Given the description of an element on the screen output the (x, y) to click on. 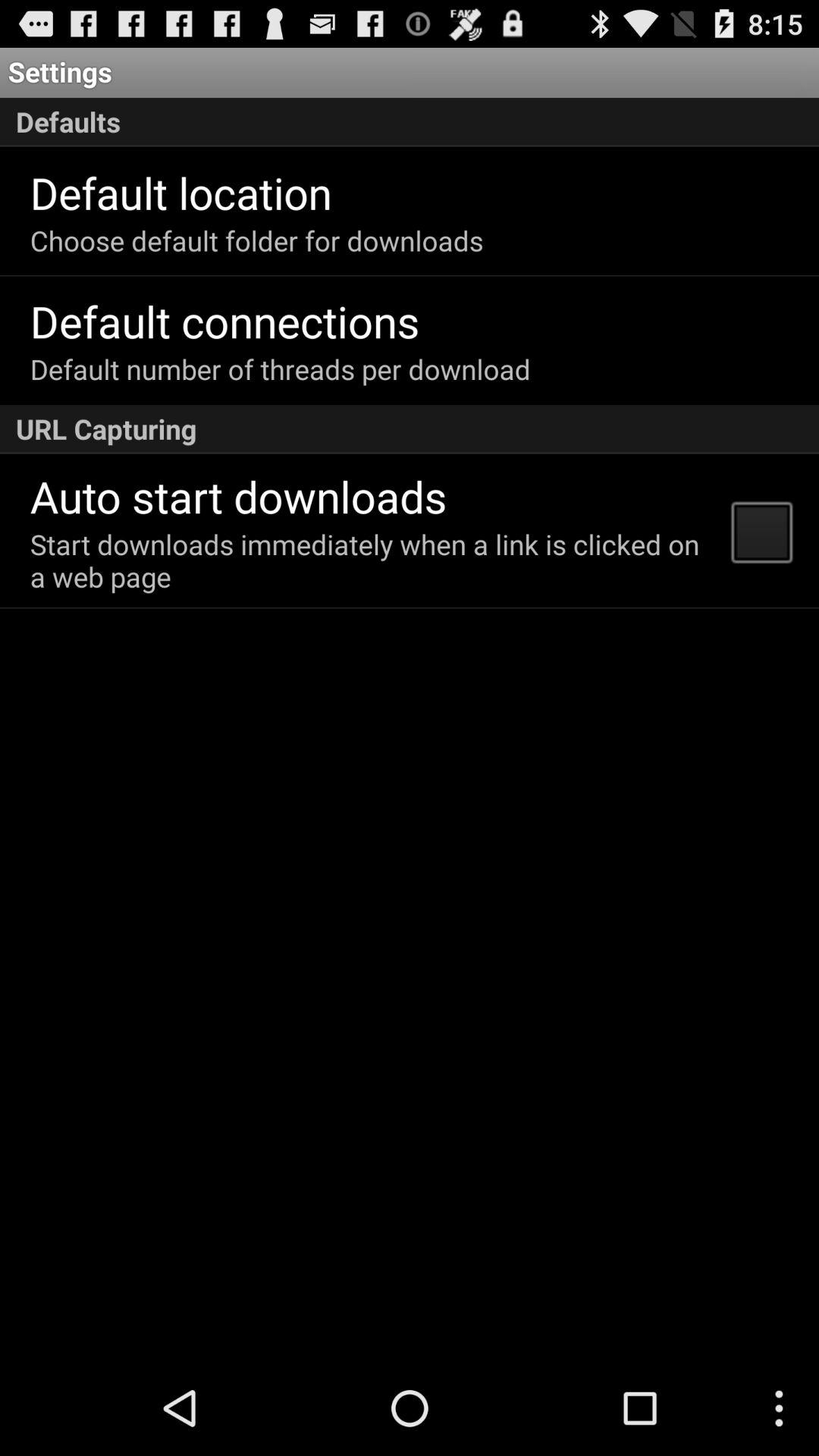
click the checkbox on the right (761, 530)
